Given the description of an element on the screen output the (x, y) to click on. 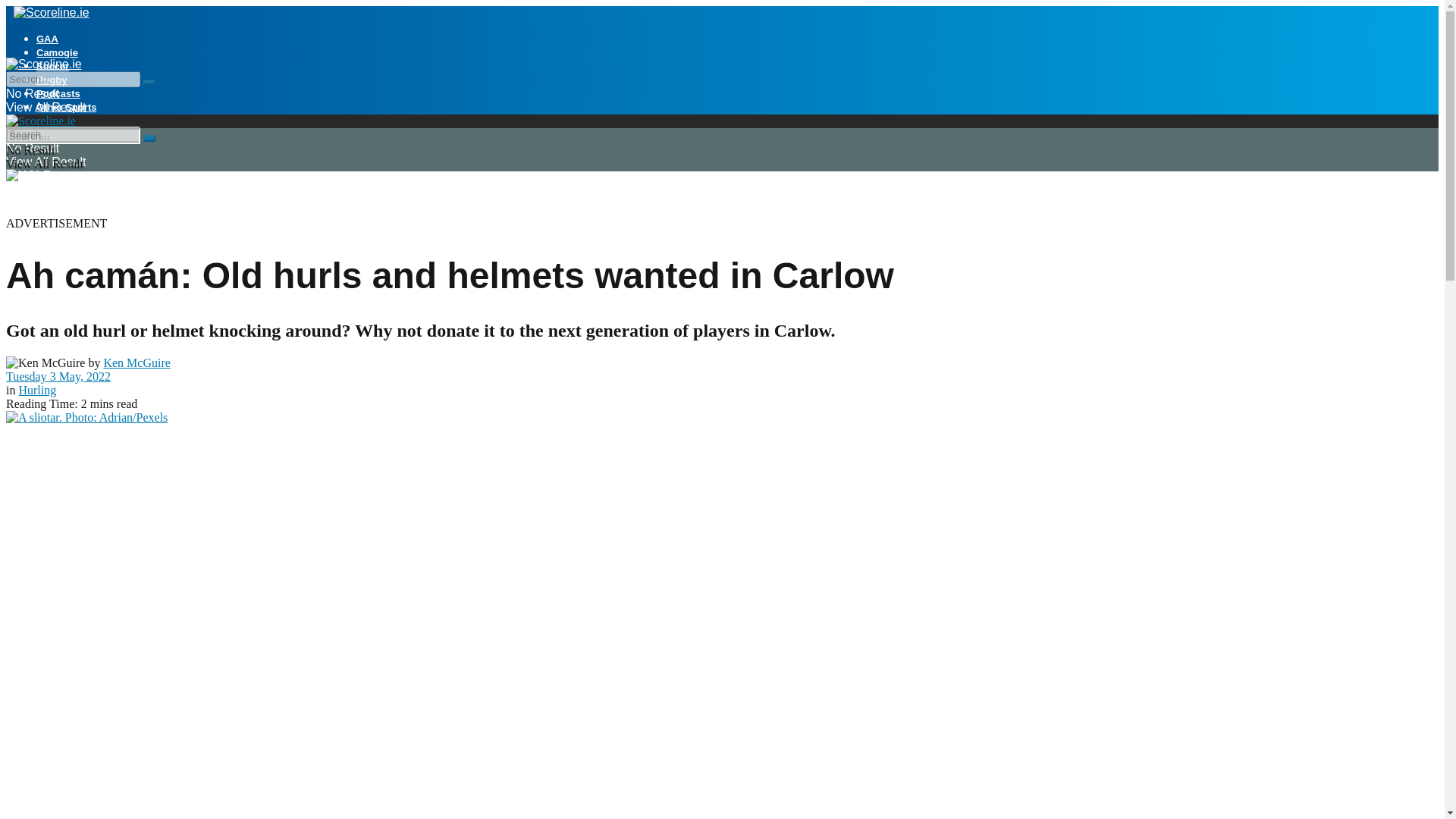
GAA (47, 39)
Camogie (57, 52)
Soccer (52, 66)
Other Sports (66, 107)
Hurling (36, 390)
Tuesday 3 May, 2022 (57, 376)
Rugby (51, 79)
Podcasts (58, 93)
Ken McGuire (136, 362)
